Given the description of an element on the screen output the (x, y) to click on. 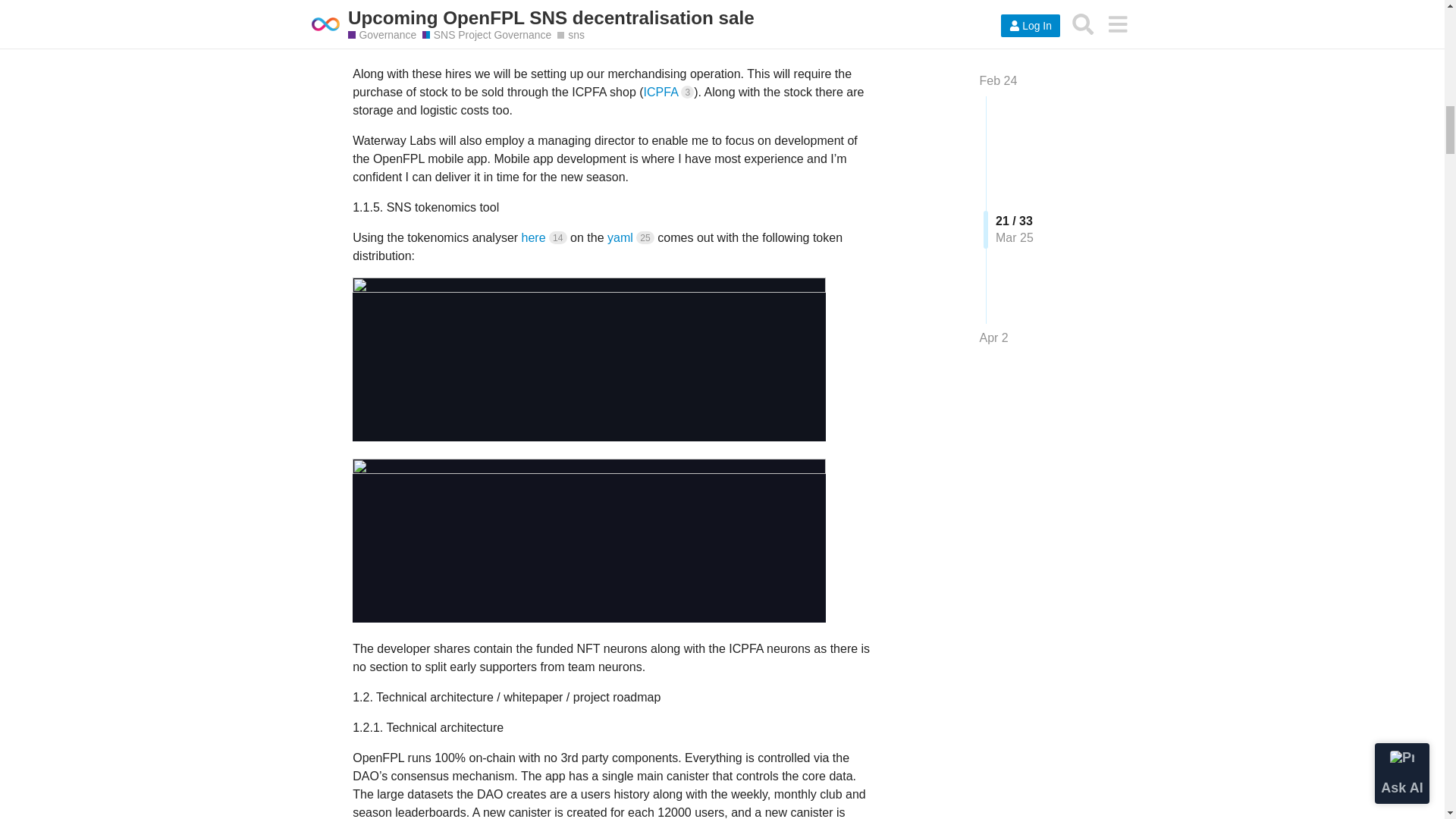
ICPFA 3 (668, 91)
yaml 25 (630, 237)
3 clicks (687, 91)
here 14 (544, 237)
25 clicks (644, 237)
14 clicks (557, 237)
